Given the description of an element on the screen output the (x, y) to click on. 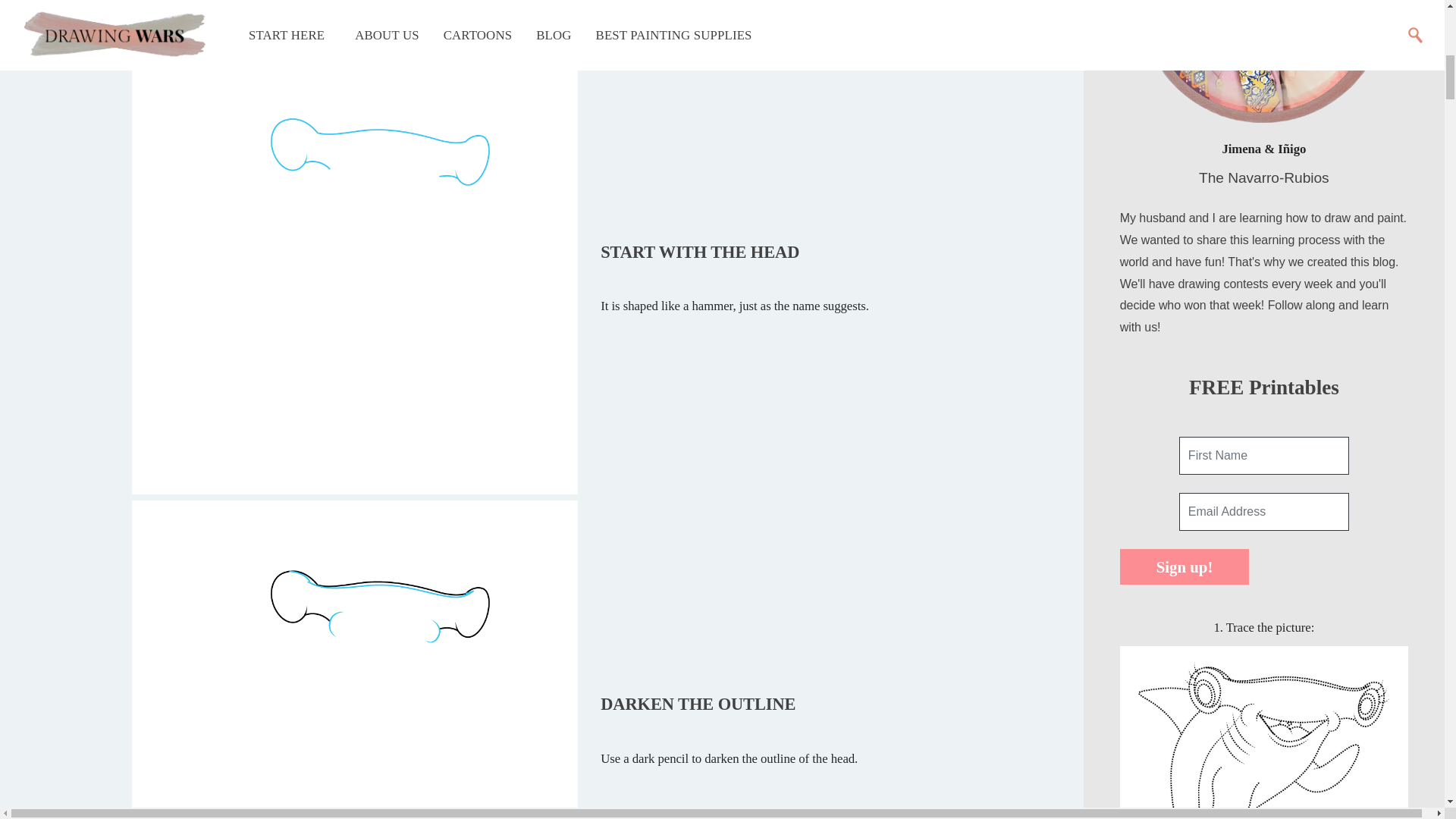
Sign up! (1184, 566)
